Given the description of an element on the screen output the (x, y) to click on. 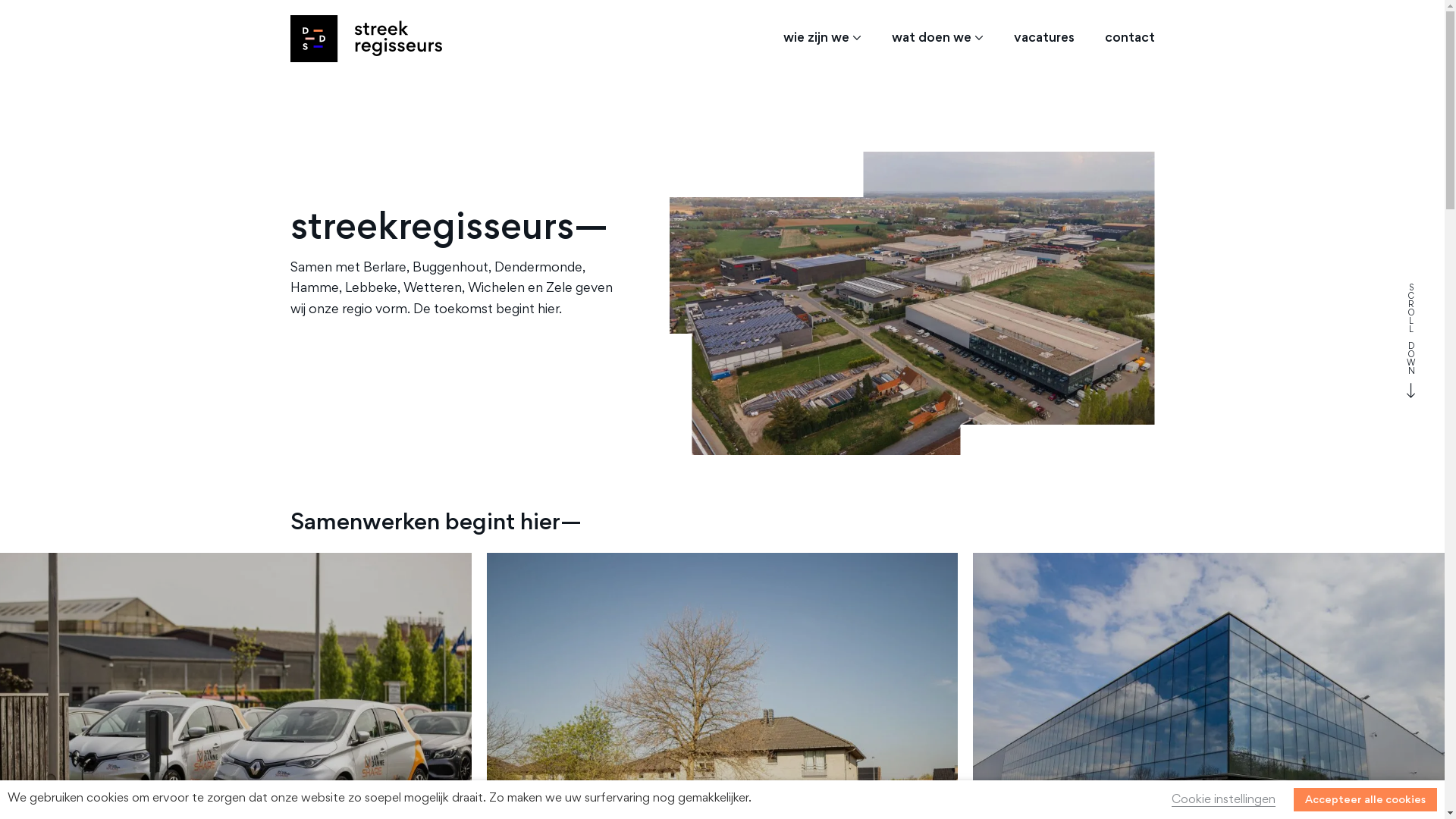
vacatures Element type: text (1042, 38)
Vantegem Element type: hover (911, 303)
wie zijn we Element type: text (821, 38)
contact Element type: text (1121, 38)
DDS Streekregisseurs Element type: hover (365, 38)
Accepteer alle cookies Element type: text (1365, 799)
Cookie instellingen Element type: text (1223, 800)
wat doen we Element type: text (937, 38)
